Given the description of an element on the screen output the (x, y) to click on. 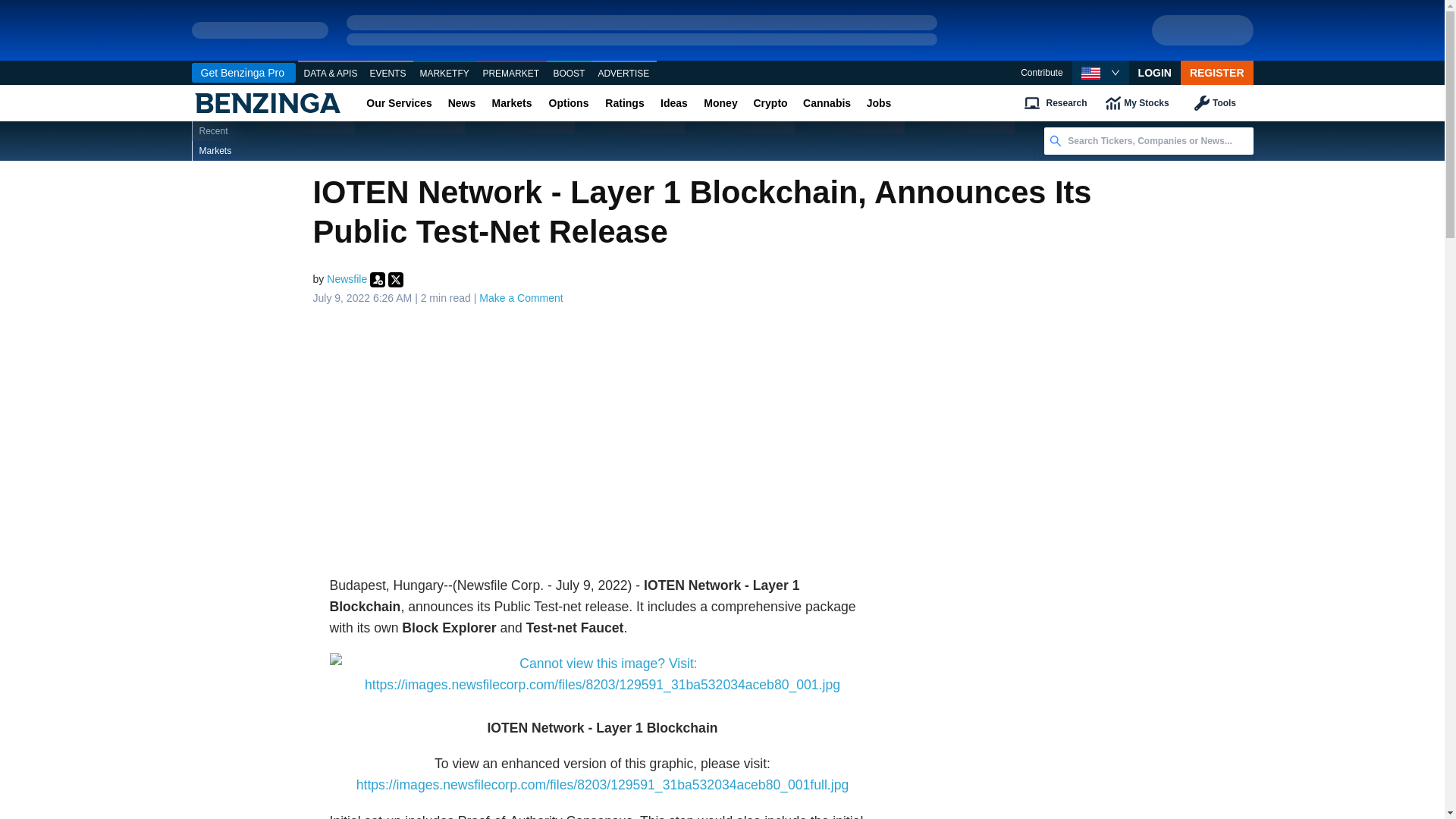
USA (1090, 72)
BOOST (569, 73)
EVENTS (387, 73)
News (461, 103)
PREMARKET (511, 73)
REGISTER (1216, 72)
Our Services (398, 103)
ADVERTISE (623, 73)
GET NOW (1202, 30)
Get Benzinga Pro (242, 72)
